Given the description of an element on the screen output the (x, y) to click on. 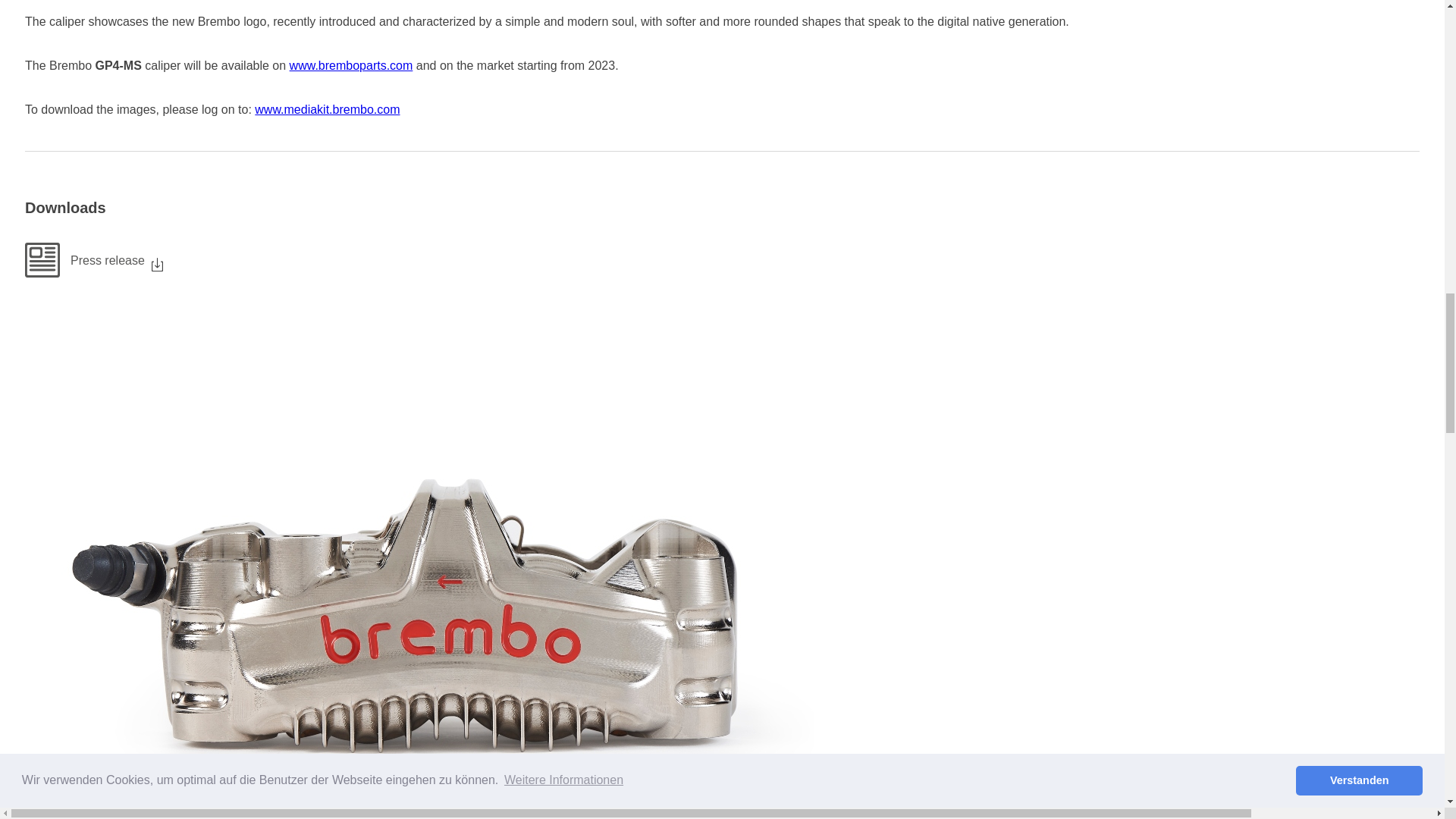
www.mediakit.brembo.com (326, 109)
Press release (721, 259)
www.bremboparts.com (351, 65)
